Given the description of an element on the screen output the (x, y) to click on. 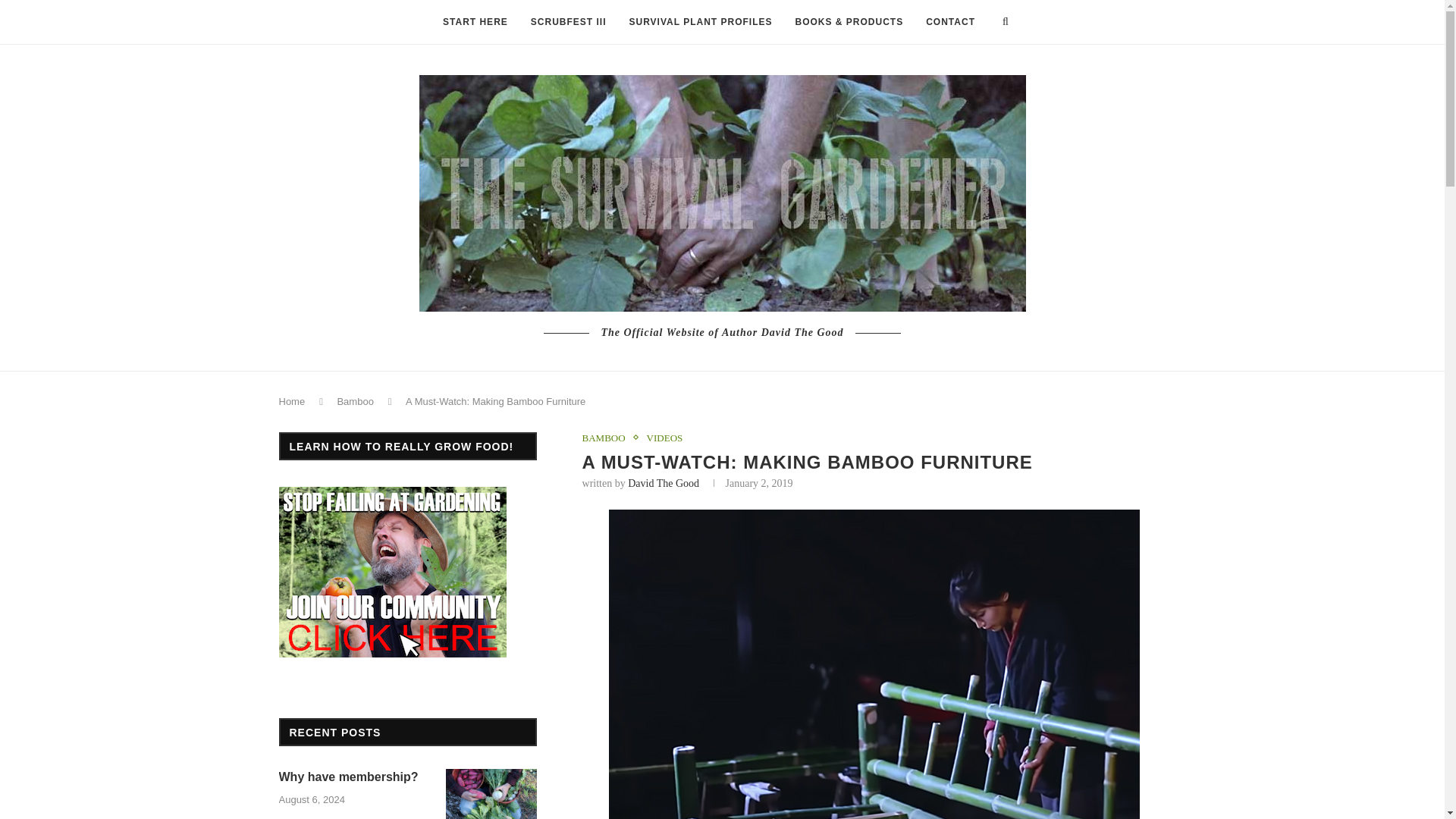
VIDEOS (664, 438)
START HERE (474, 22)
Bamboo (354, 401)
Why have membership? (491, 794)
Why have membership? (354, 777)
Home (292, 401)
BAMBOO (607, 438)
David The Good (662, 482)
SCRUBFEST III (568, 22)
SURVIVAL PLANT PROFILES (700, 22)
